Given the description of an element on the screen output the (x, y) to click on. 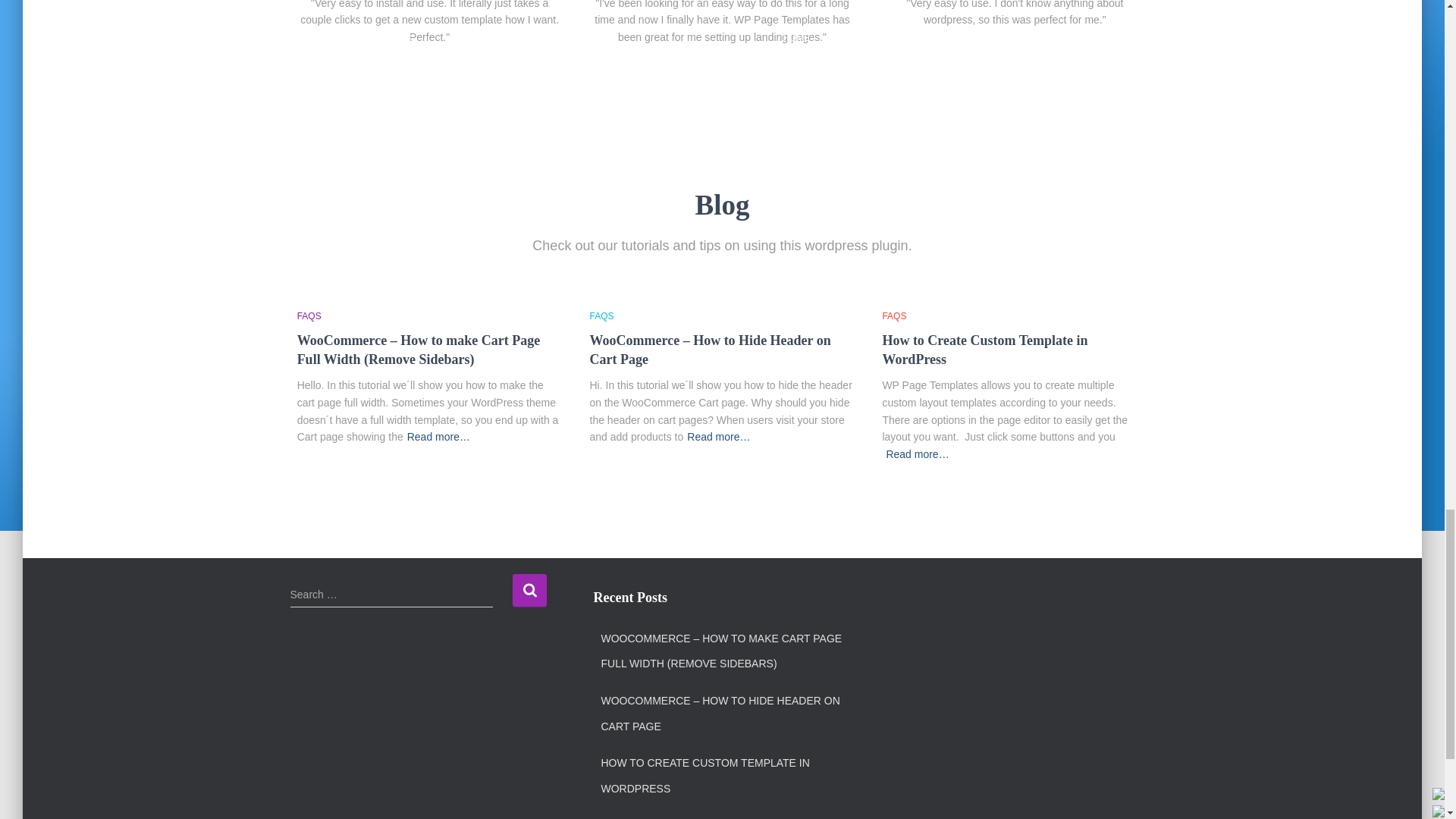
View all posts in FAQs (893, 316)
FREE VERSION VS PAID VERSION (686, 814)
View all posts in FAQs (601, 316)
FAQS (601, 316)
HOW TO CREATE CUSTOM TEMPLATE IN WORDPRESS (724, 775)
View all posts in FAQs (309, 316)
Search (529, 590)
How to Create Custom Template in WordPress (984, 349)
Search (529, 590)
Search (529, 590)
